Given the description of an element on the screen output the (x, y) to click on. 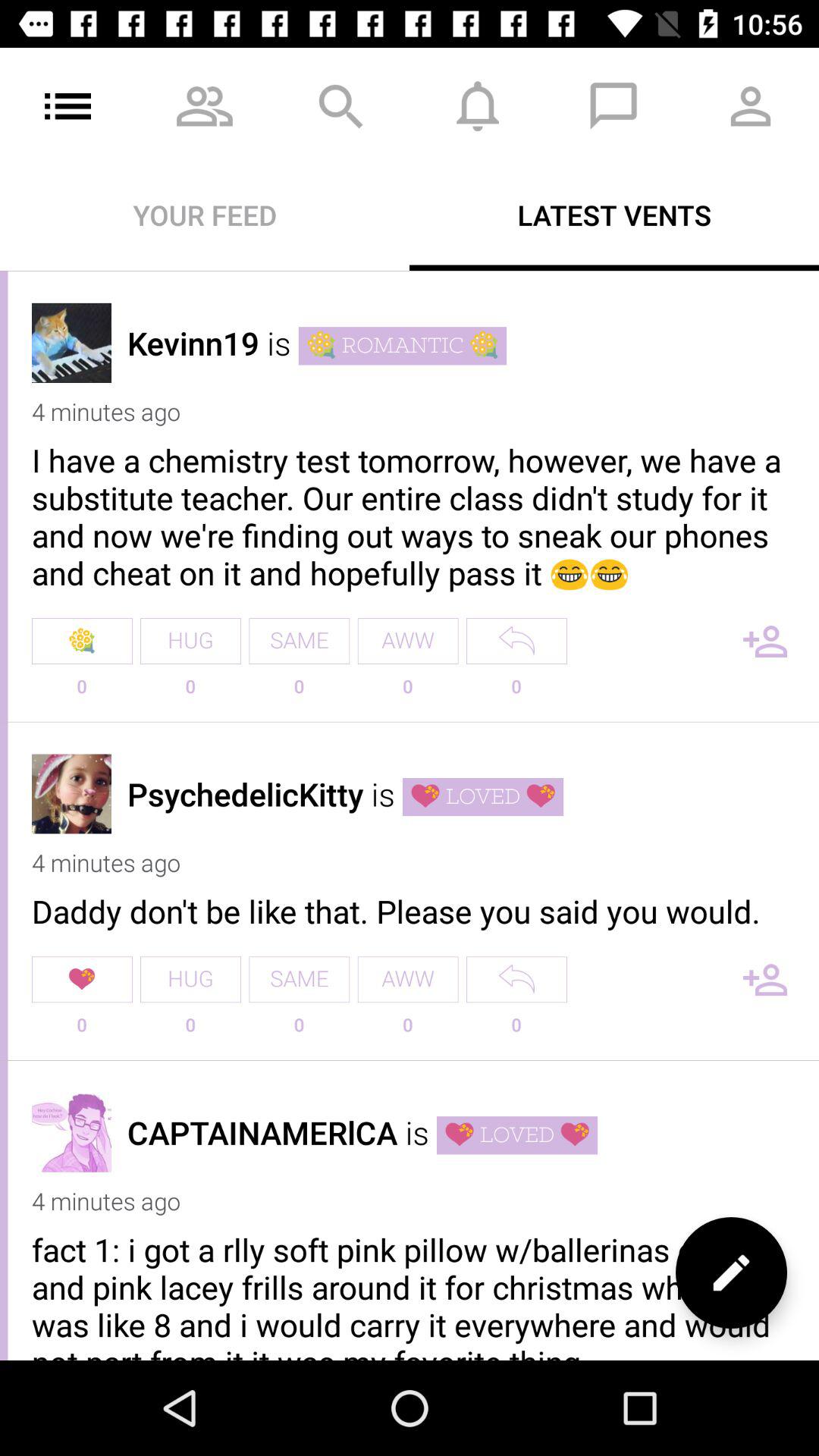
add new contact (765, 641)
